Given the description of an element on the screen output the (x, y) to click on. 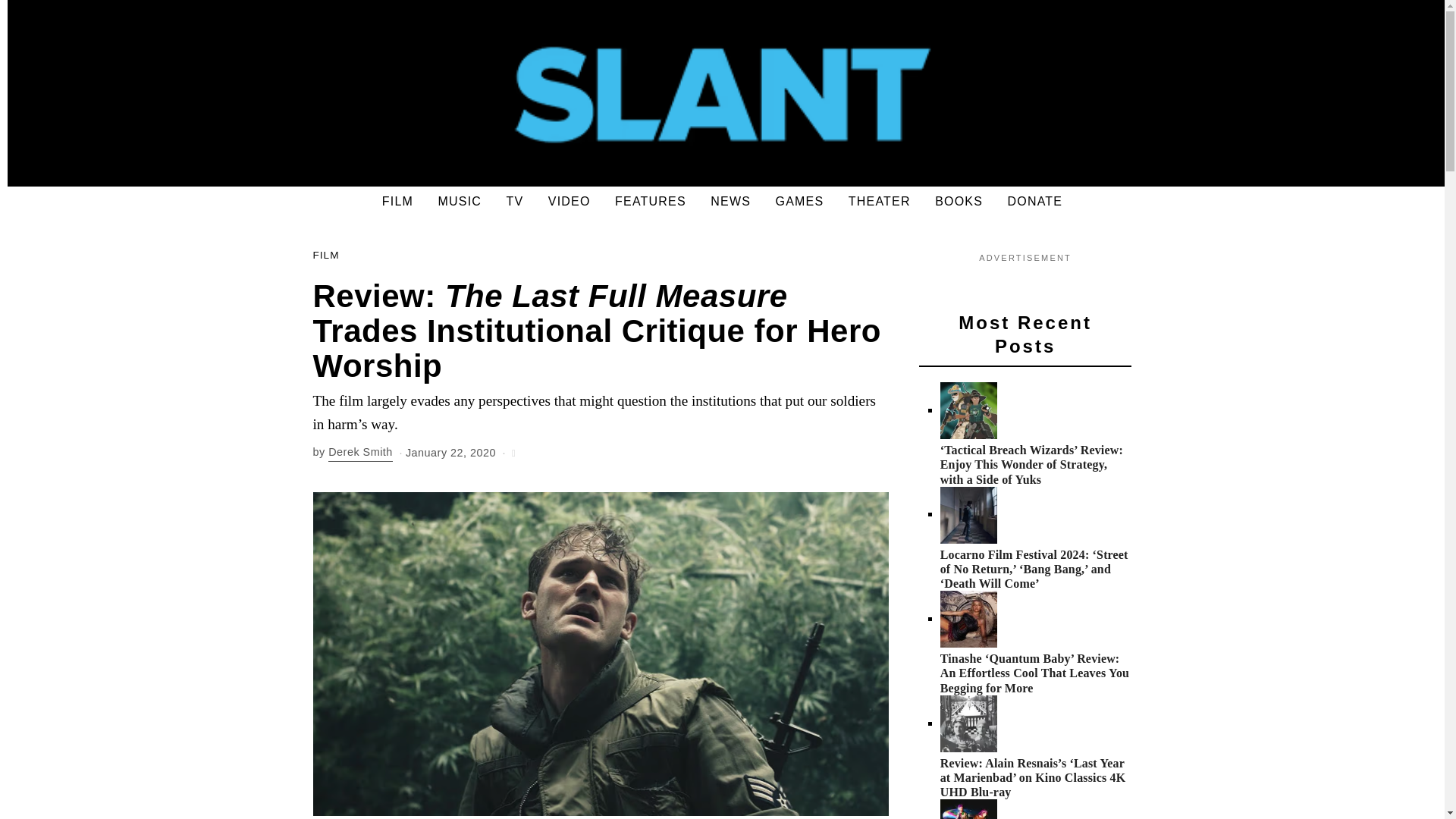
NEWS (730, 201)
THEATER (879, 201)
VIDEO (569, 201)
FILM (397, 201)
TV (515, 201)
Derek Smith (361, 452)
GAMES (799, 201)
FEATURES (650, 201)
FILM (326, 255)
MUSIC (460, 201)
